Given the description of an element on the screen output the (x, y) to click on. 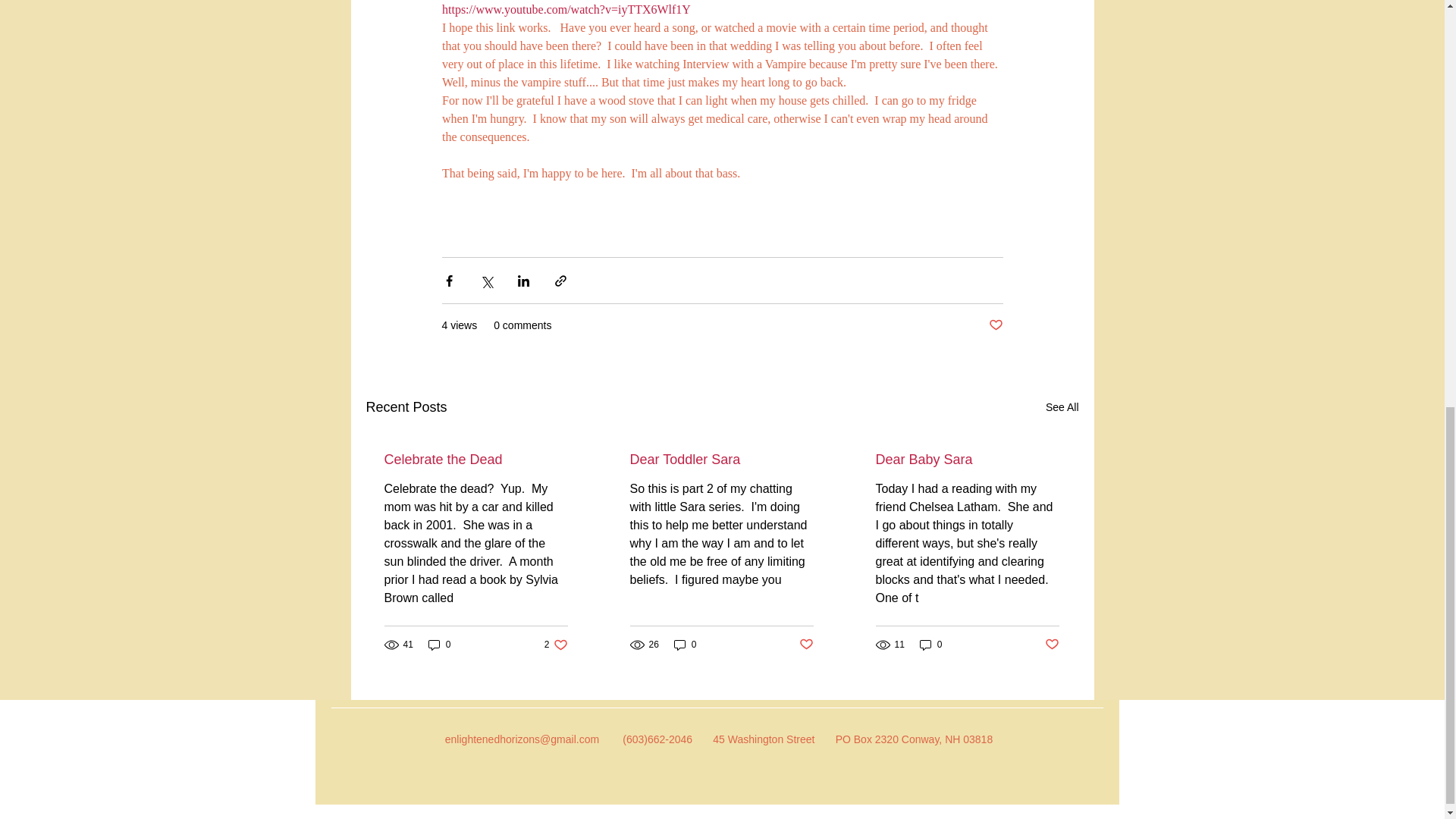
Post not marked as liked (995, 325)
Dear Baby Sara (966, 459)
0 (439, 644)
See All (1061, 407)
Post not marked as liked (806, 644)
0 (930, 644)
Post not marked as liked (1052, 644)
0 (555, 644)
Celebrate the Dead (685, 644)
